Given the description of an element on the screen output the (x, y) to click on. 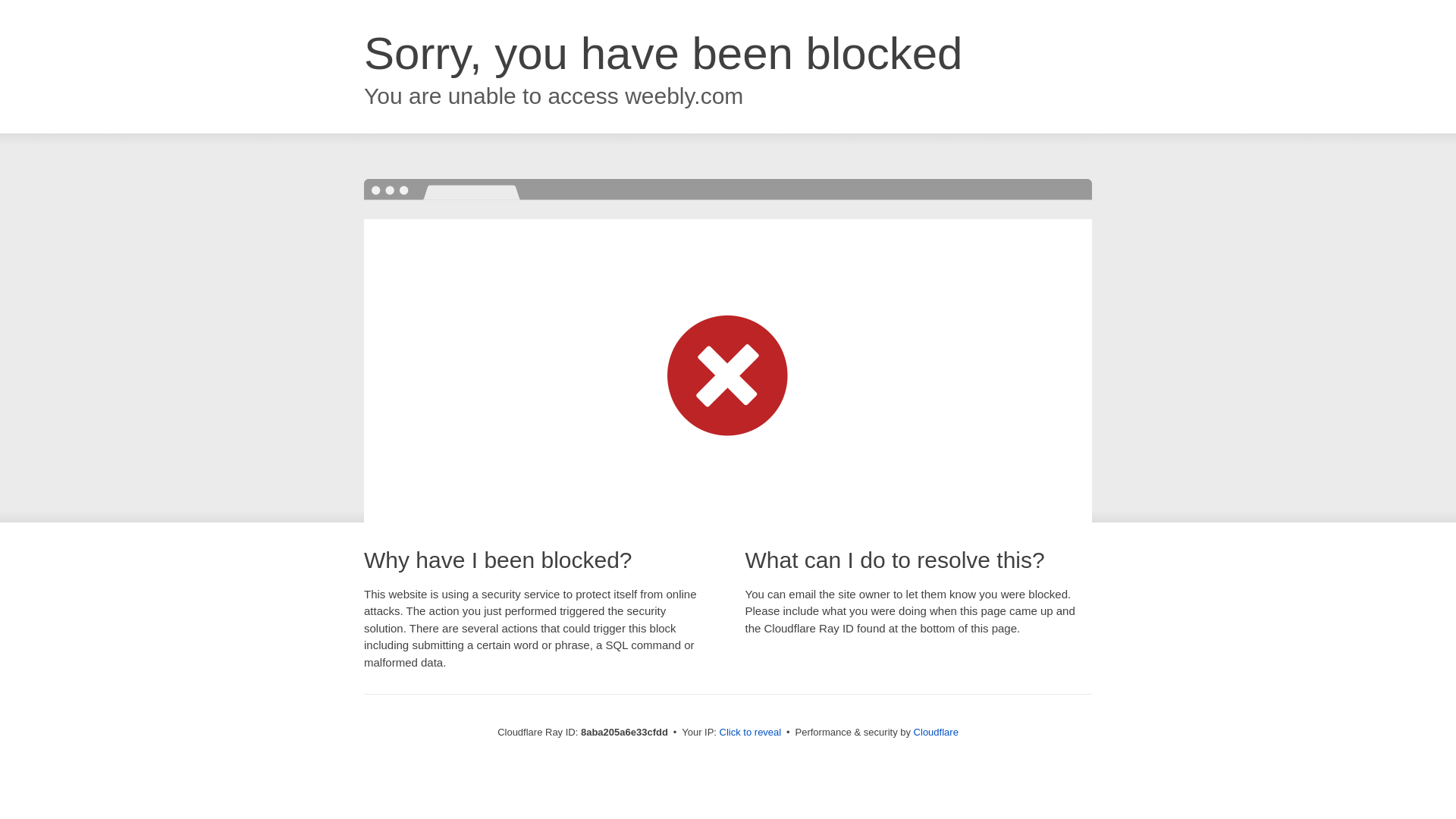
Click to reveal (750, 732)
Cloudflare (936, 731)
